Given the description of an element on the screen output the (x, y) to click on. 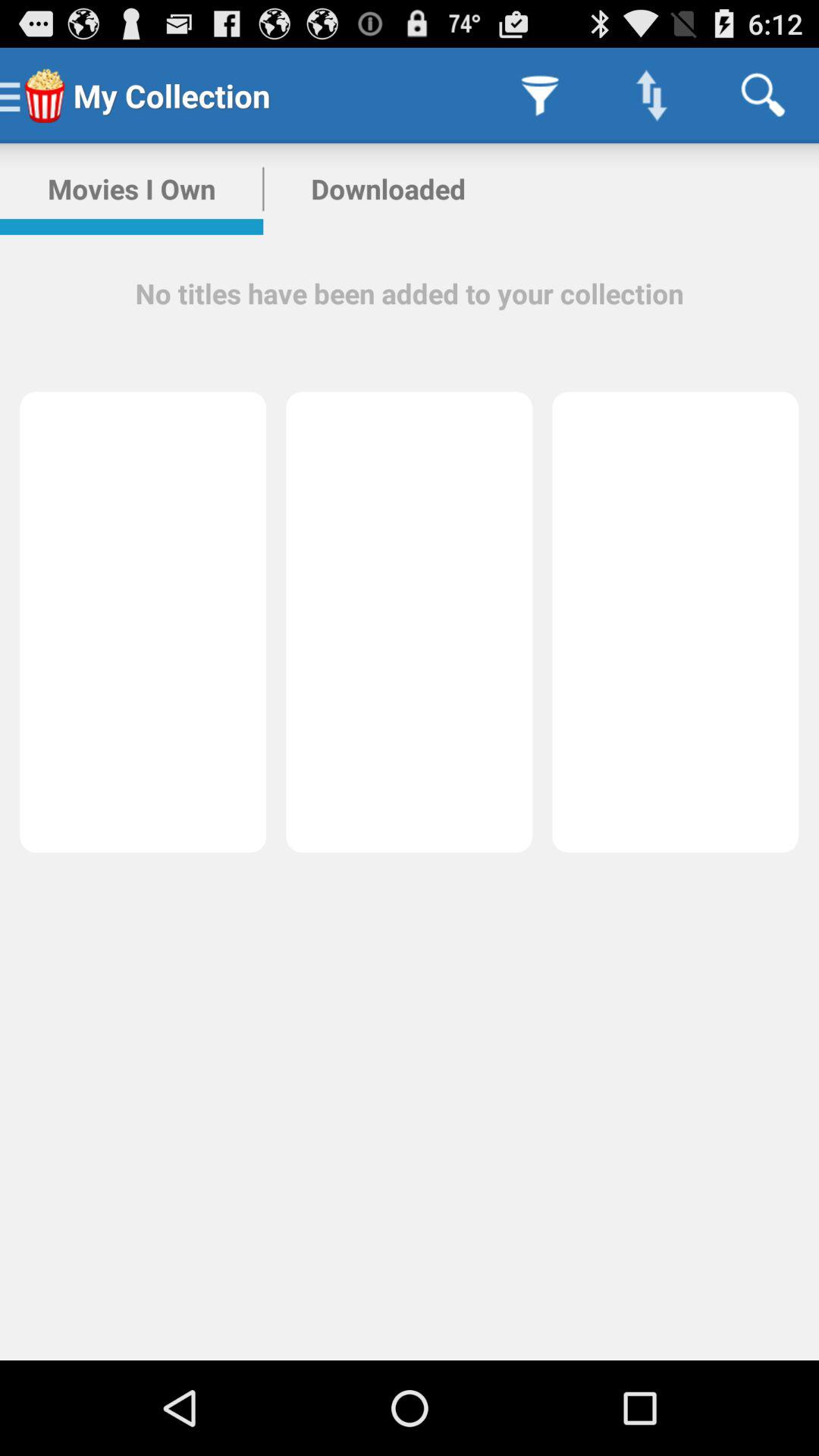
open the app to the right of movies i own (388, 188)
